Given the description of an element on the screen output the (x, y) to click on. 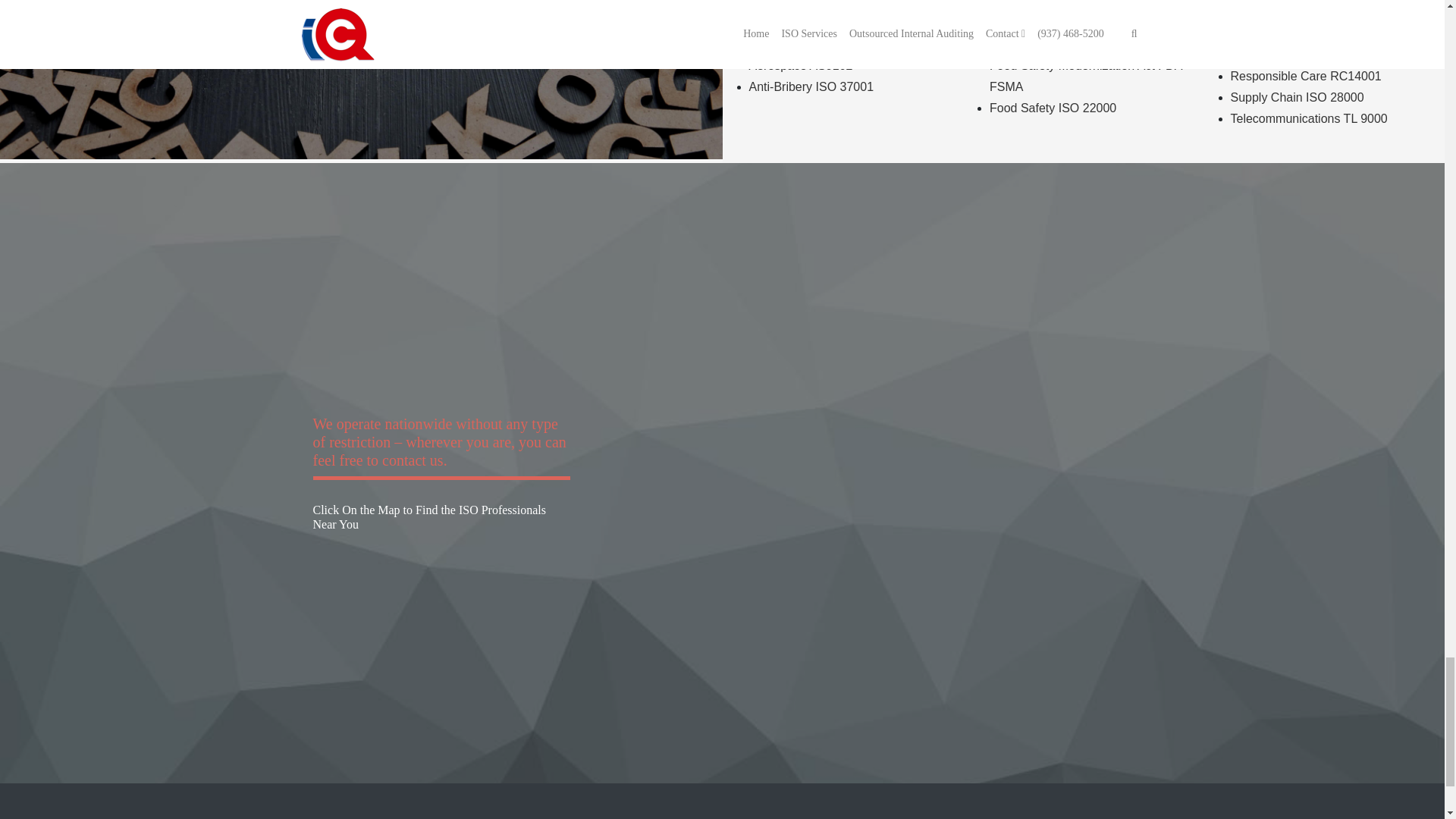
Anti-Bribery ISO 37001 (812, 86)
Aerospace AS9102 (801, 65)
Aerospace AS9100 (801, 22)
Aerospace AS9101 (801, 43)
